Given the description of an element on the screen output the (x, y) to click on. 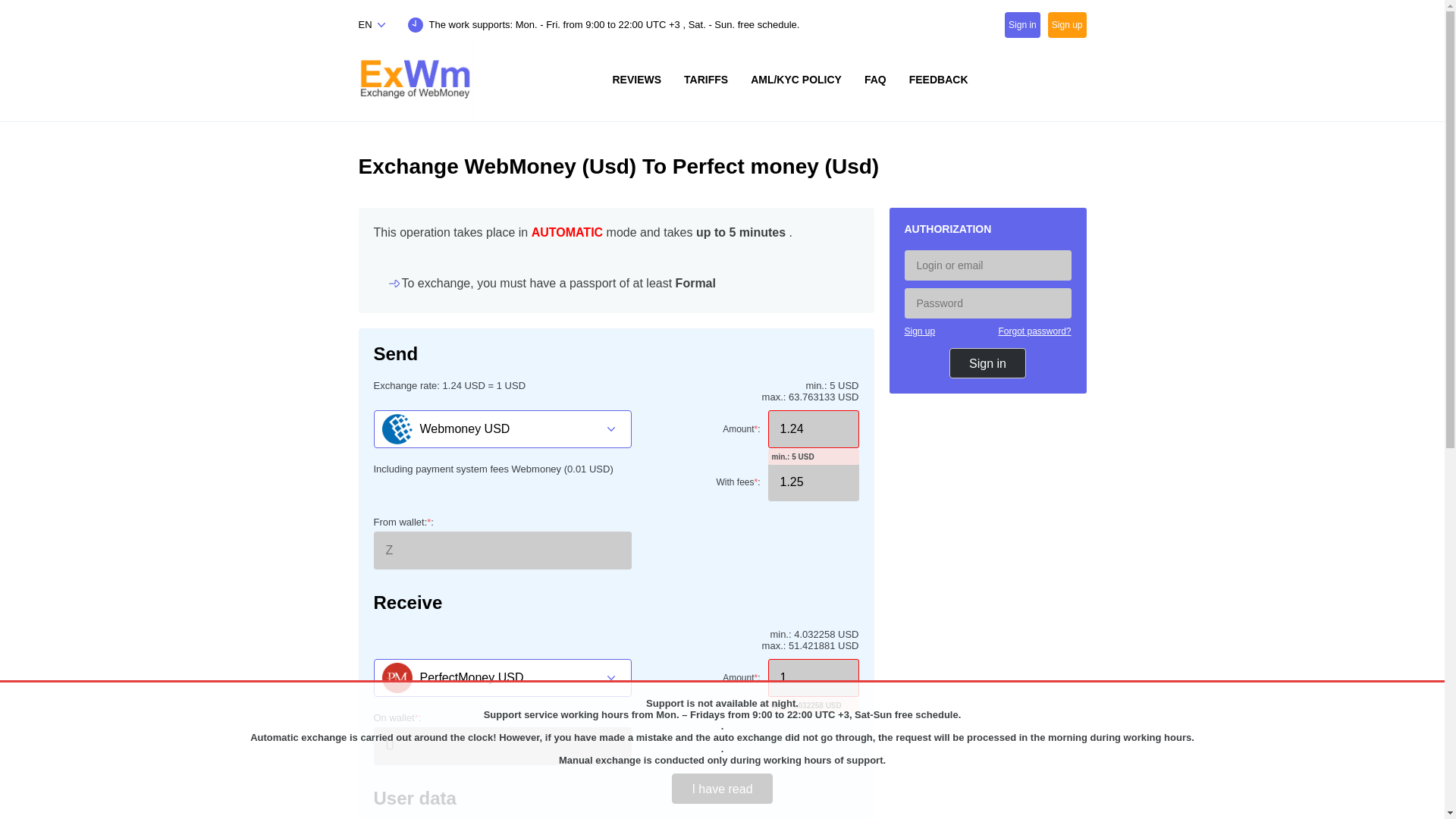
Sign in (1022, 24)
Sign up (1067, 24)
1 (813, 677)
FEEDBACK (938, 79)
Sign up (919, 330)
1.25 (813, 482)
FAQ (875, 79)
Sign in (987, 363)
Sign in (987, 363)
Forgot password? (1033, 330)
I have read (721, 788)
I have read (721, 788)
REVIEWS (635, 79)
1.24 (813, 428)
TARIFFS (705, 79)
